Given the description of an element on the screen output the (x, y) to click on. 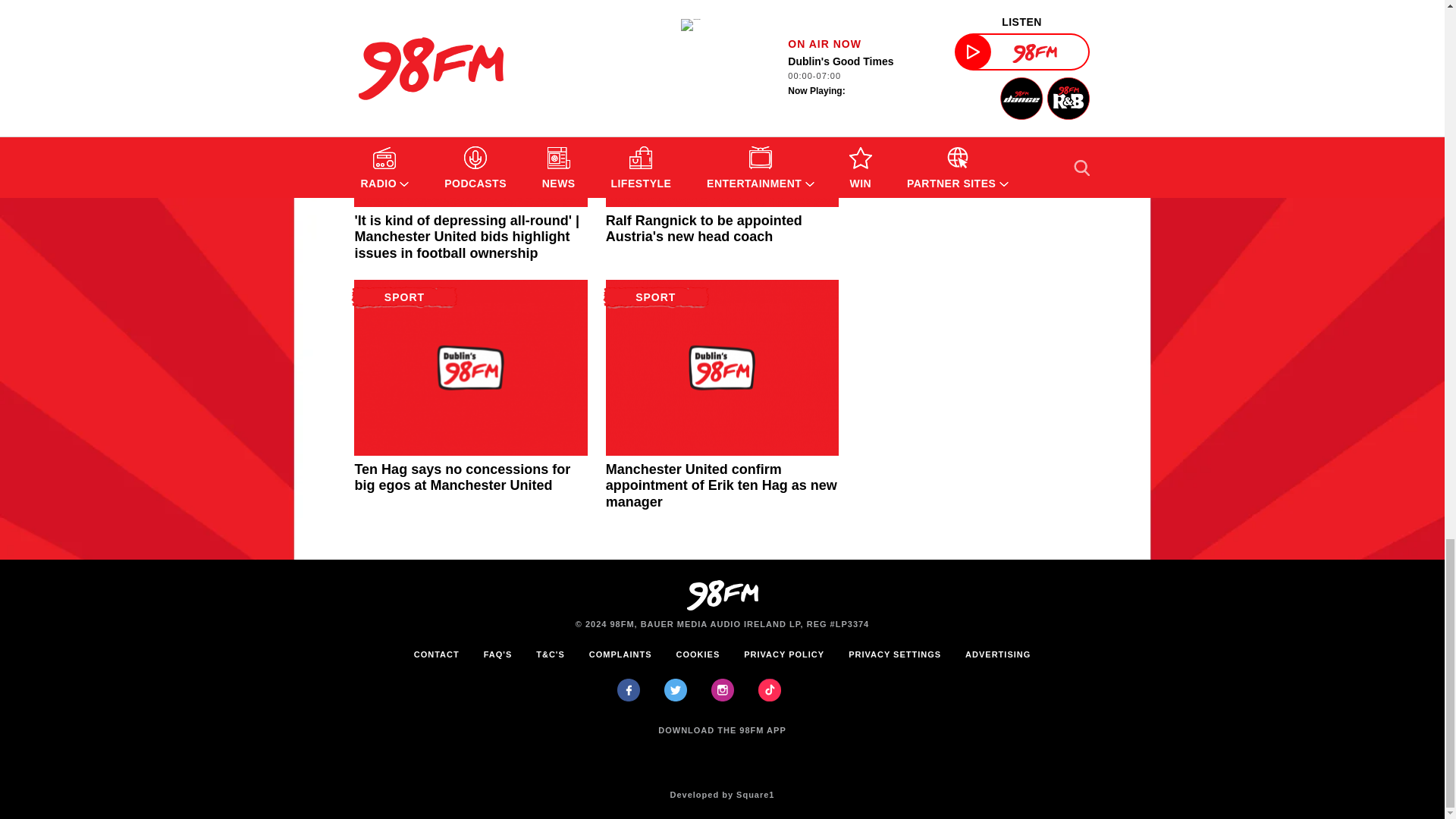
FAQ's (497, 654)
Contact (436, 654)
